Given the description of an element on the screen output the (x, y) to click on. 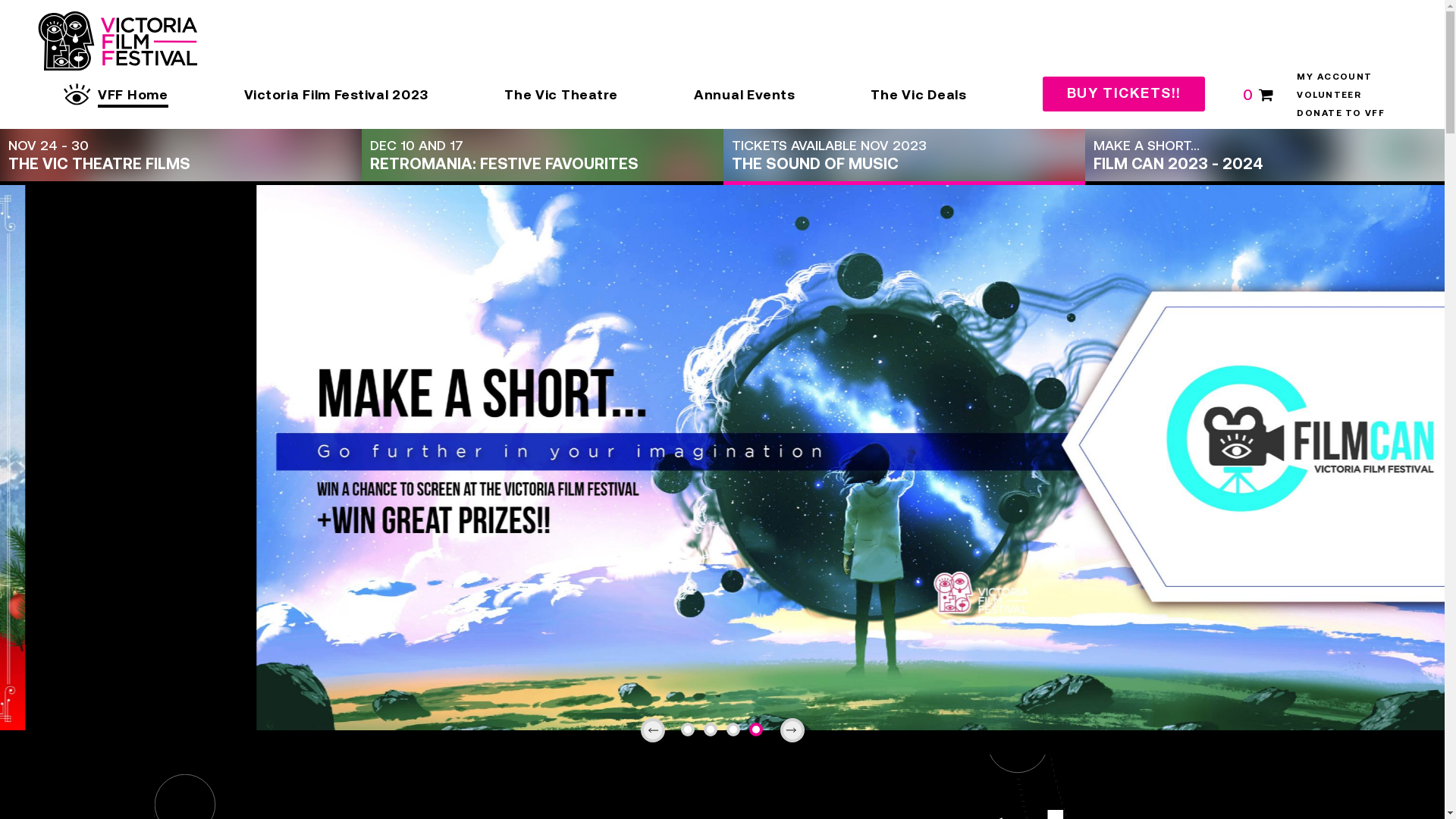
0 Element type: text (1258, 93)
MY ACCOUNT Element type: text (1333, 75)
The Vic Deals Element type: text (918, 93)
Annual Events Element type: text (743, 93)
4 Element type: text (756, 729)
VFF Home Element type: text (132, 93)
VOLUNTEER Element type: text (1328, 93)
BUY TICKETS!! Element type: text (1123, 93)
3 Element type: text (733, 729)
2 Element type: text (710, 729)
The Vic Theatre Element type: text (561, 93)
DONATE TO VFF Element type: text (1340, 111)
1 Element type: text (688, 729)
Victoria Film Festival 2023 Element type: text (336, 93)
